Given the description of an element on the screen output the (x, y) to click on. 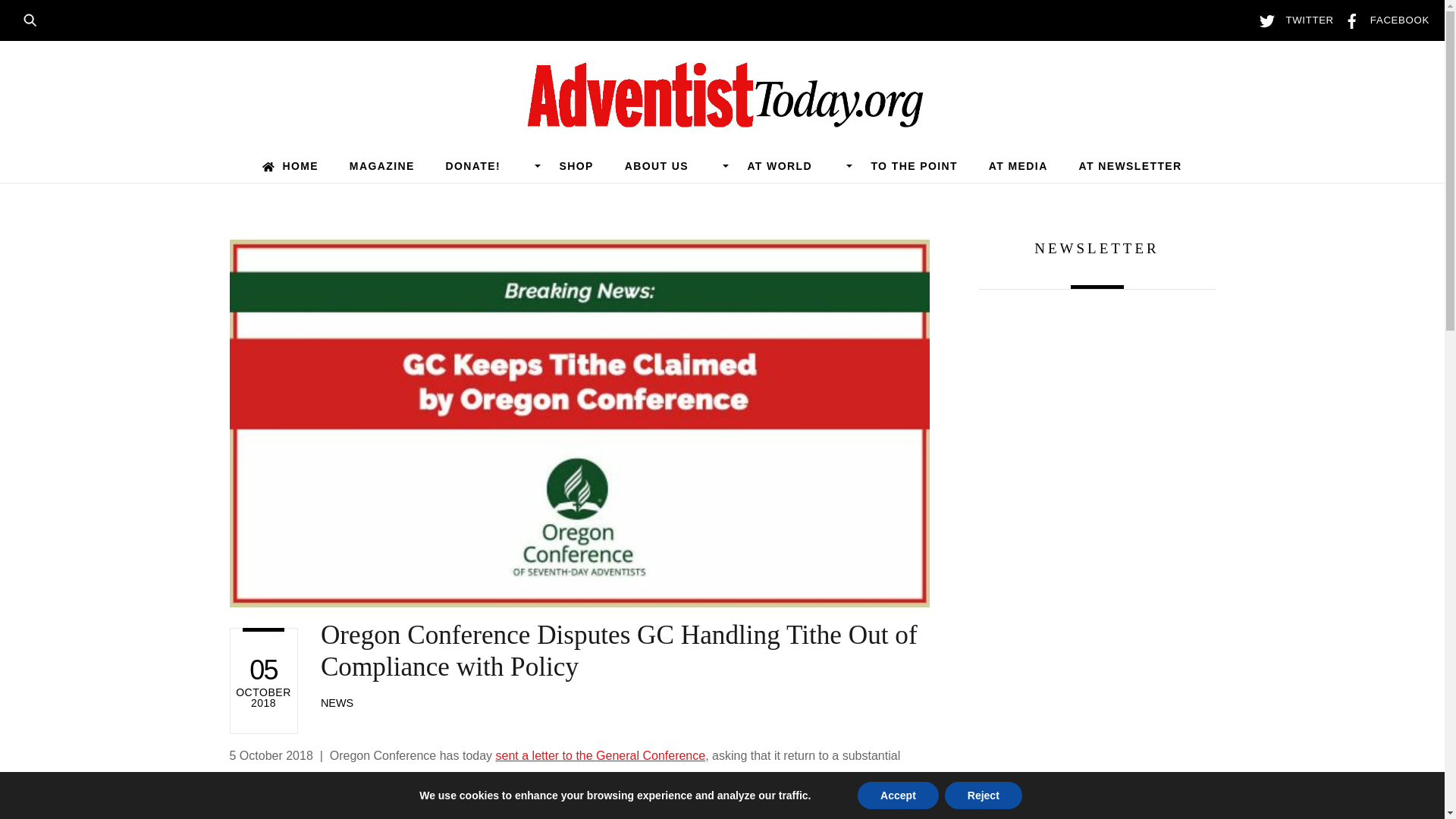
ABOUT US (669, 165)
NEWS (336, 702)
AT WORLD (793, 165)
DONATE! (486, 165)
TWITTER (1292, 19)
MAGAZINE (381, 165)
Search (35, 18)
AT NEWSLETTER (1129, 165)
